Given the description of an element on the screen output the (x, y) to click on. 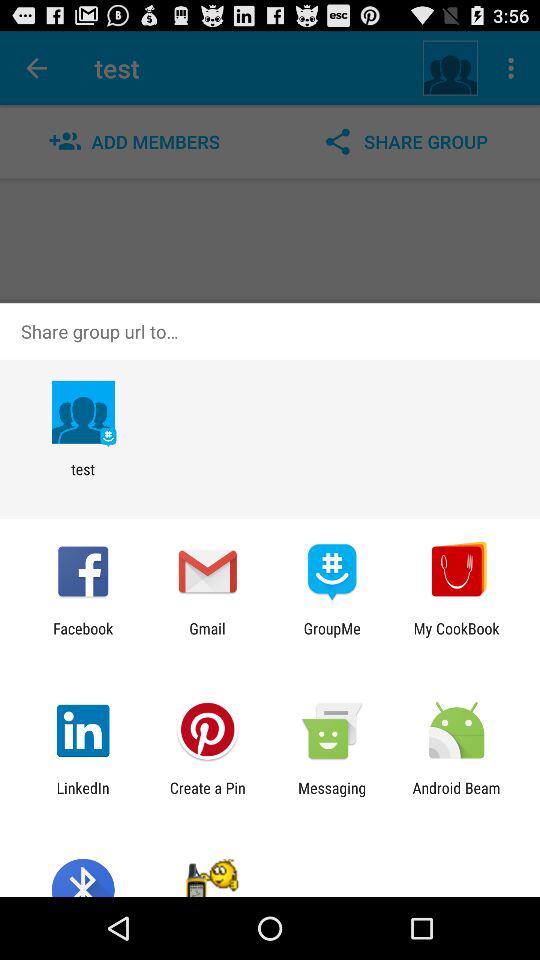
press item next to the messaging icon (207, 796)
